Given the description of an element on the screen output the (x, y) to click on. 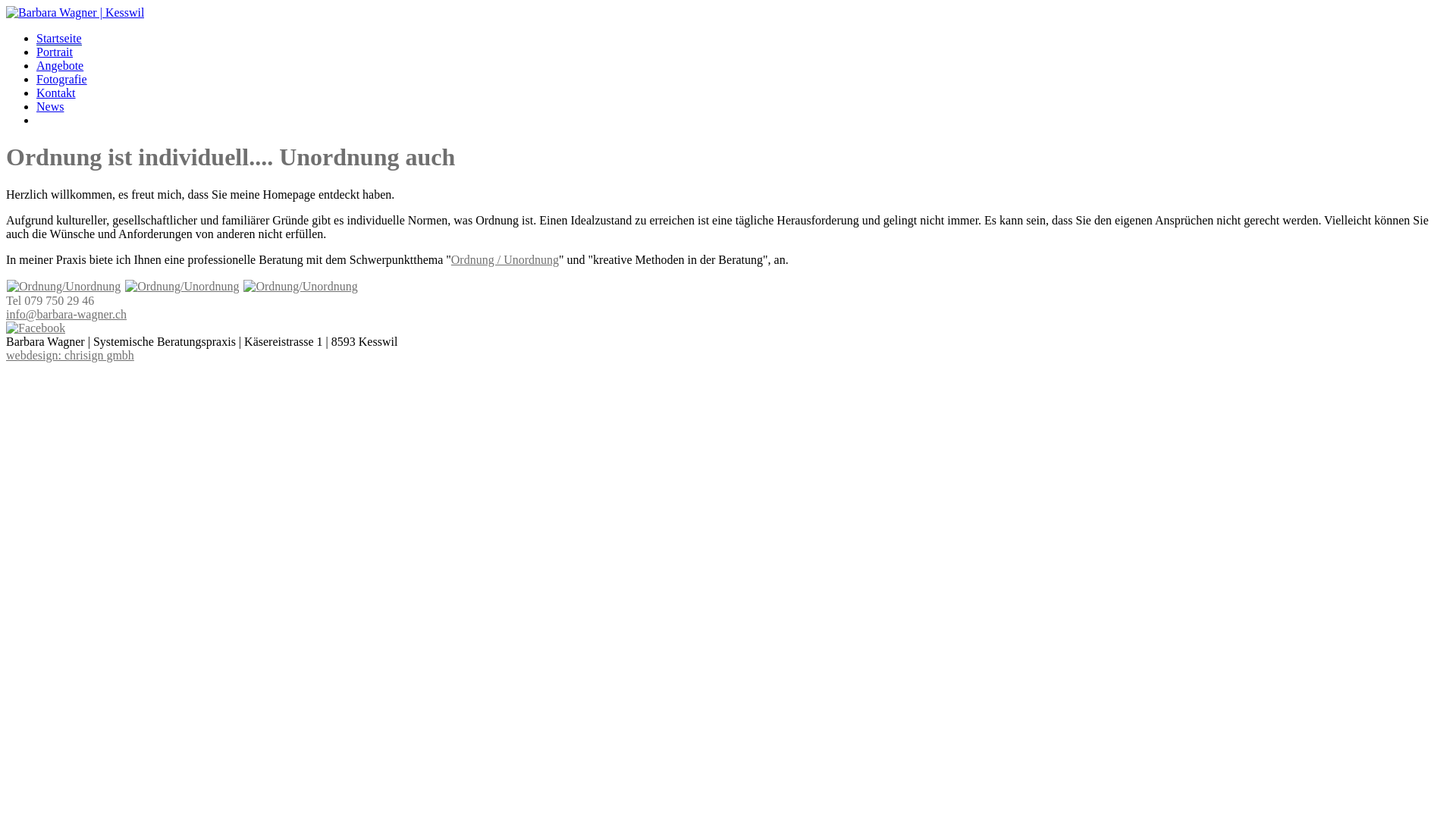
Barbara Wagner Element type: hover (75, 12)
Fotografie Element type: text (61, 78)
Angebote Element type: text (59, 65)
Portrait Element type: text (54, 51)
Ordnung / Unordnung Element type: text (504, 259)
webdesign: chrisign gmbh Element type: text (70, 354)
Startseite Element type: text (58, 38)
Ordnung/Unordnung Element type: hover (299, 285)
News Element type: text (49, 106)
Ordnung/Unordnung Element type: hover (181, 285)
Barbara Wagner auf Facebook Element type: hover (35, 327)
Ordnung/Unordnung Element type: hover (63, 285)
info@barbara-wagner.ch Element type: text (66, 313)
Kontakt Element type: text (55, 92)
